Given the description of an element on the screen output the (x, y) to click on. 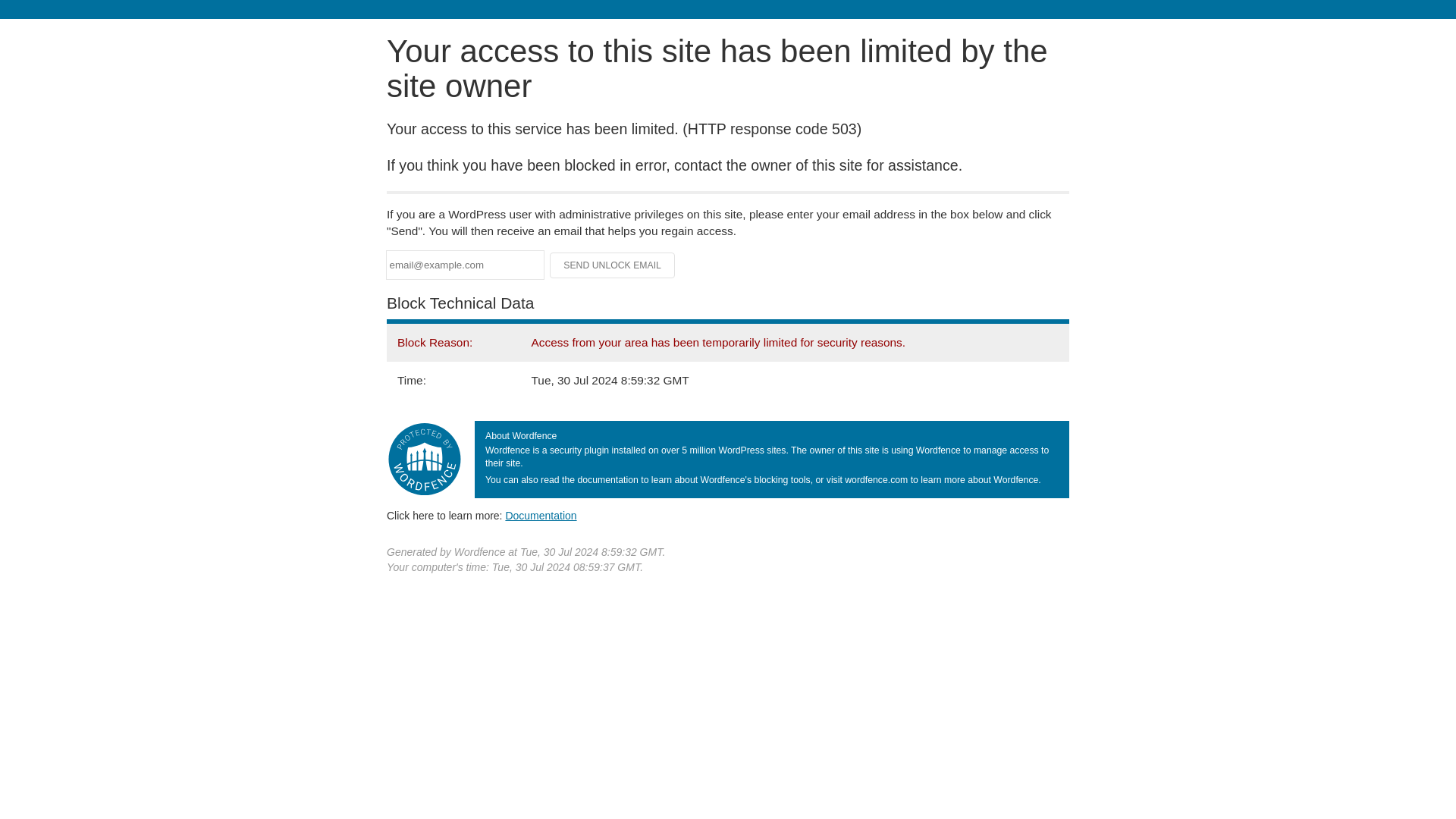
Send Unlock Email (612, 265)
Documentation (540, 515)
Send Unlock Email (612, 265)
